Given the description of an element on the screen output the (x, y) to click on. 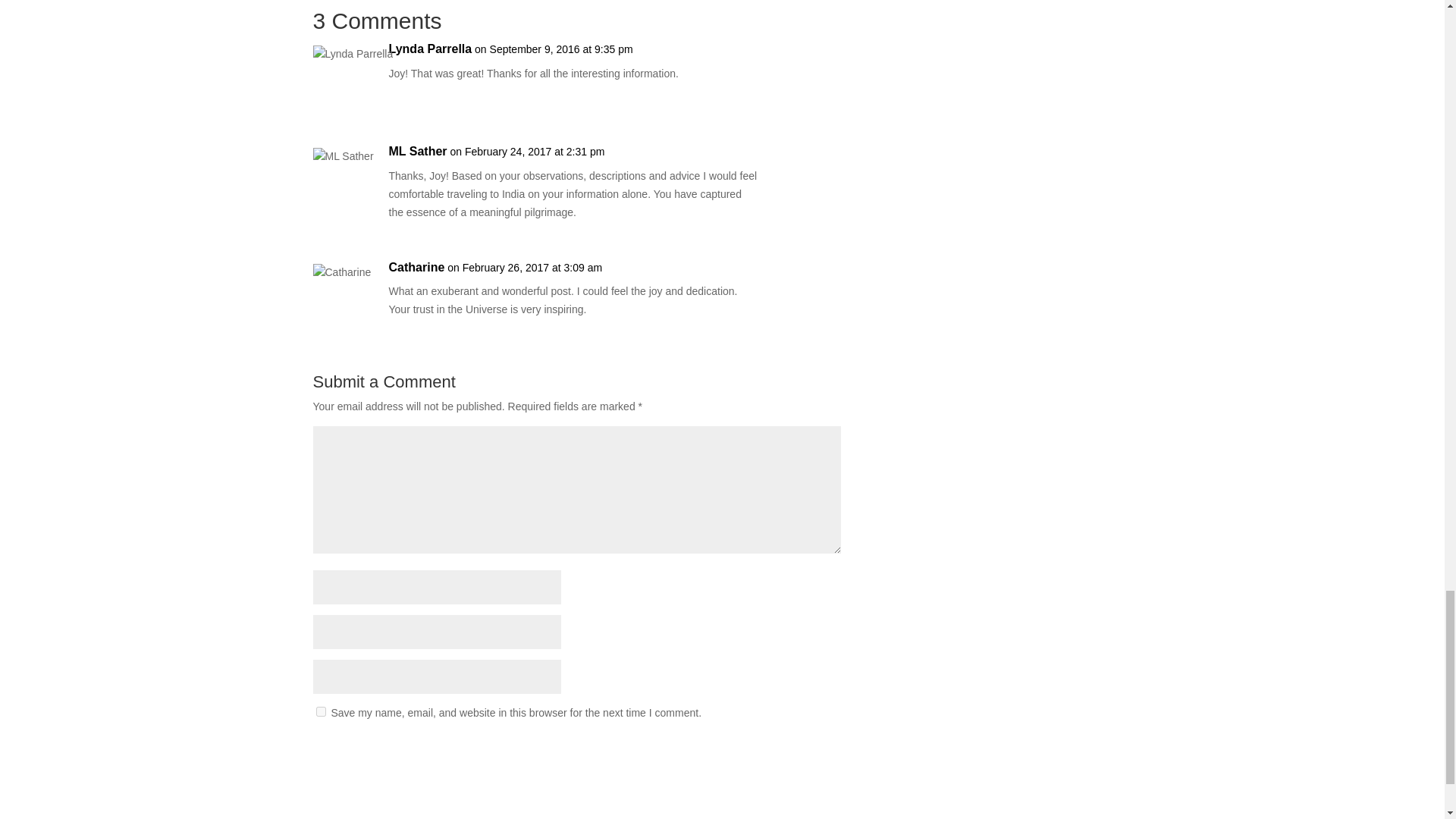
yes (319, 711)
Submit Comment (765, 752)
